Given the description of an element on the screen output the (x, y) to click on. 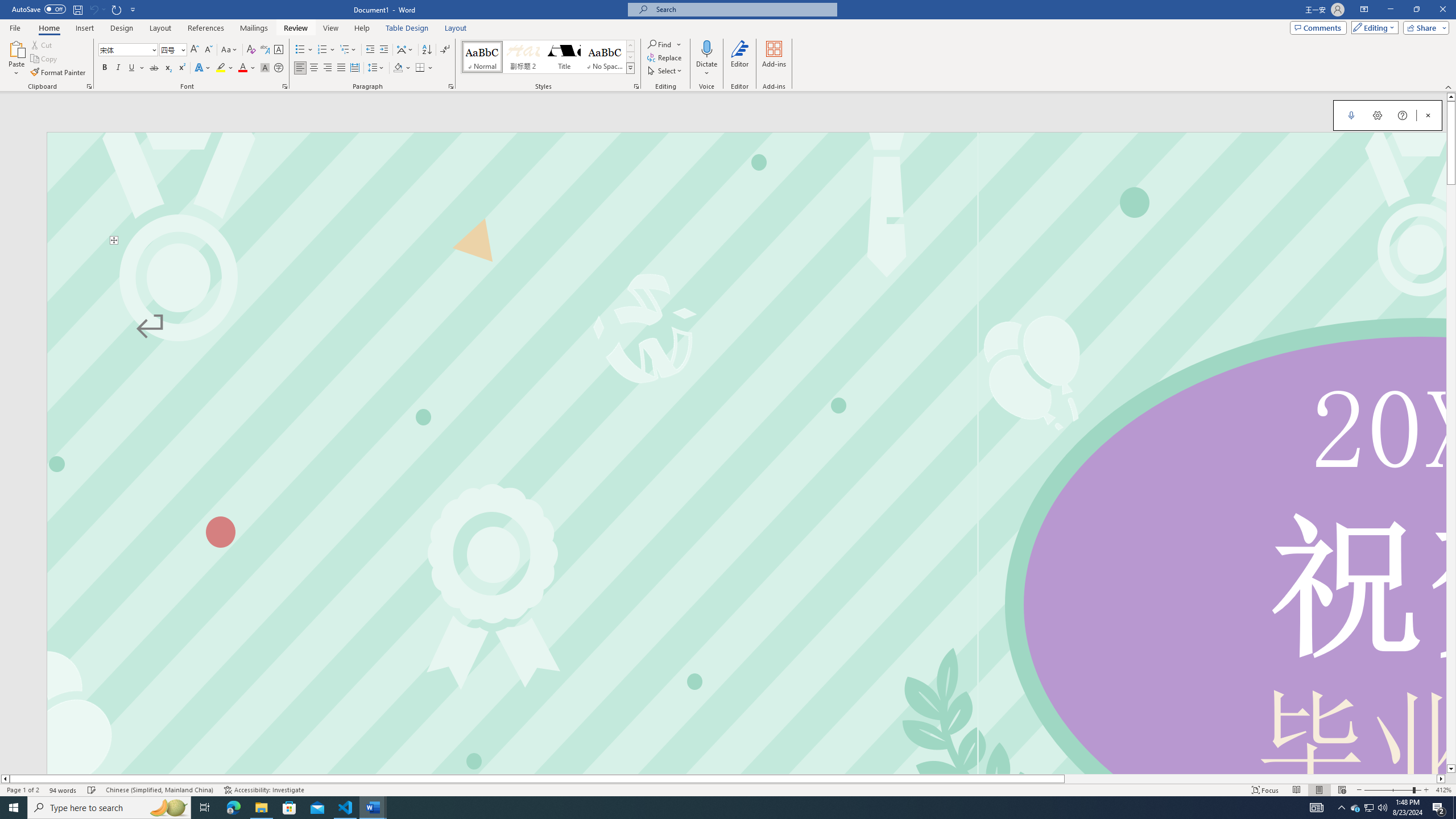
Title (564, 56)
Column right (1441, 778)
Office Clipboard... (88, 85)
First Page Header -Section 1- (745, 187)
Can't Undo (96, 9)
Zoom (1392, 790)
Align Left (300, 67)
Text Effects and Typography (202, 67)
Shrink Font (208, 49)
